Given the description of an element on the screen output the (x, y) to click on. 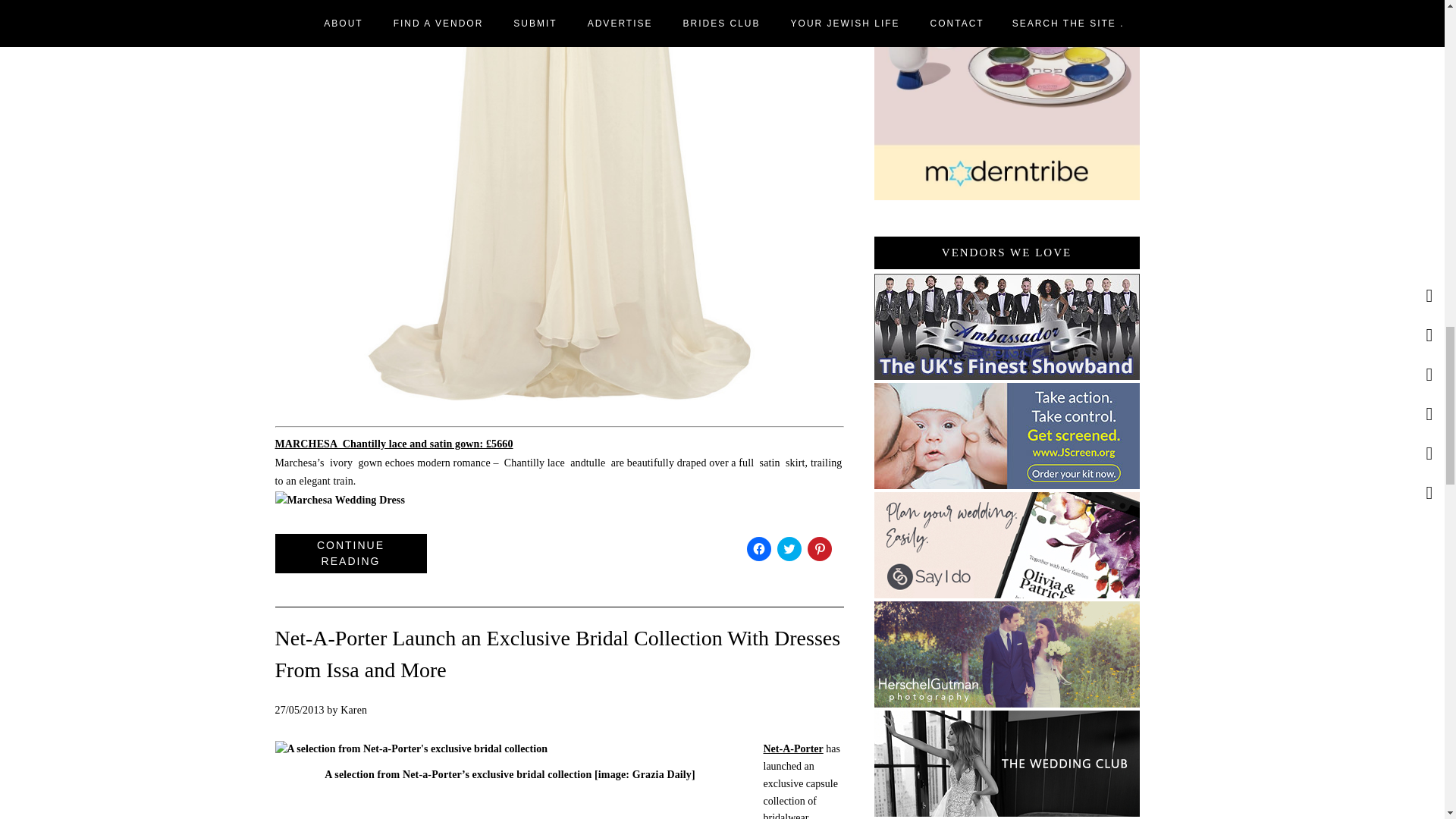
Click to share on Facebook (757, 549)
Click to share on Twitter (788, 549)
Click to share on Pinterest (818, 549)
